Given the description of an element on the screen output the (x, y) to click on. 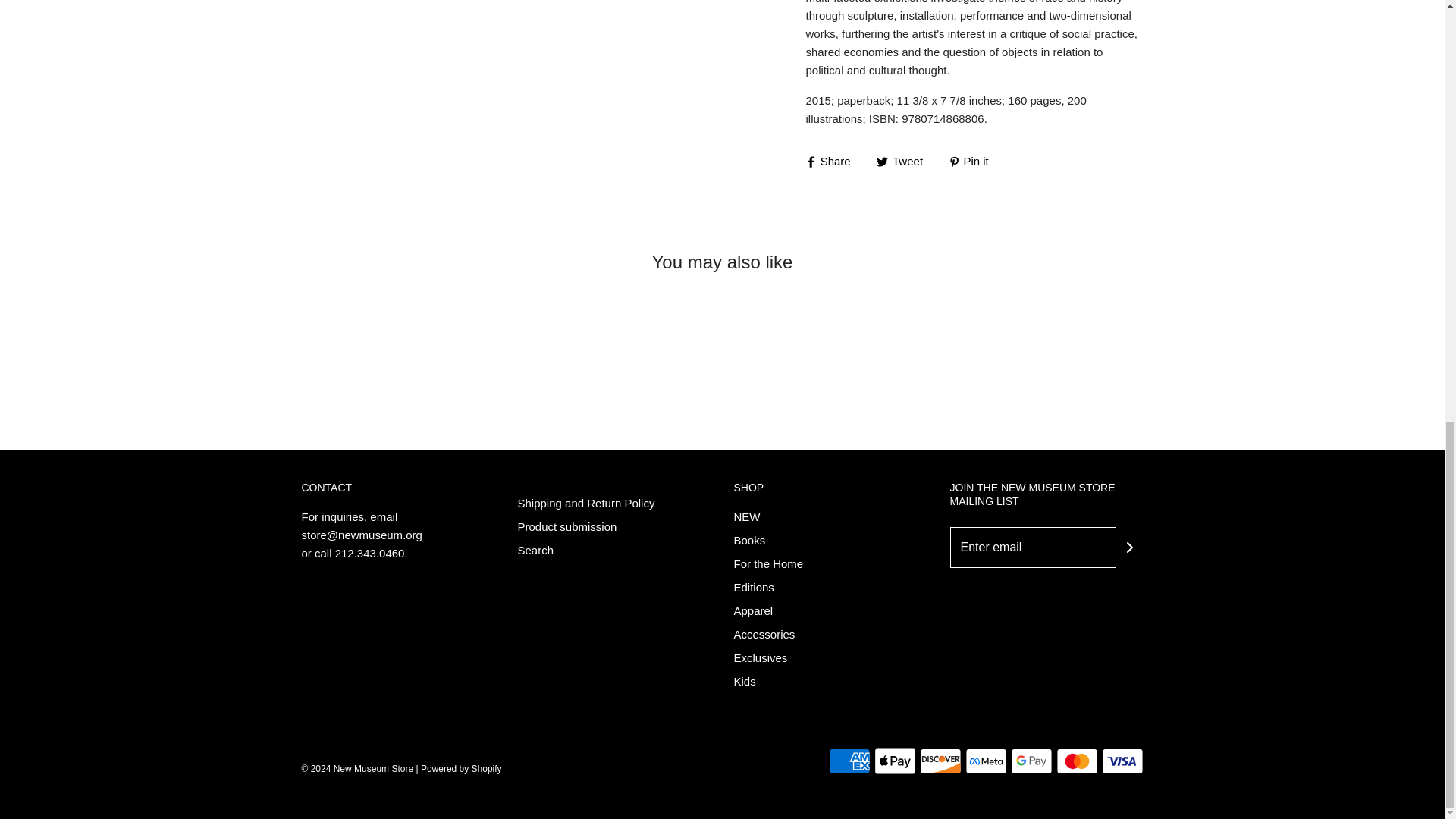
Apple Pay (894, 761)
Meta Pay (984, 761)
Visa (1121, 761)
American Express (848, 761)
Google Pay (1030, 761)
Discover (939, 761)
Mastercard (1076, 761)
